Given the description of an element on the screen output the (x, y) to click on. 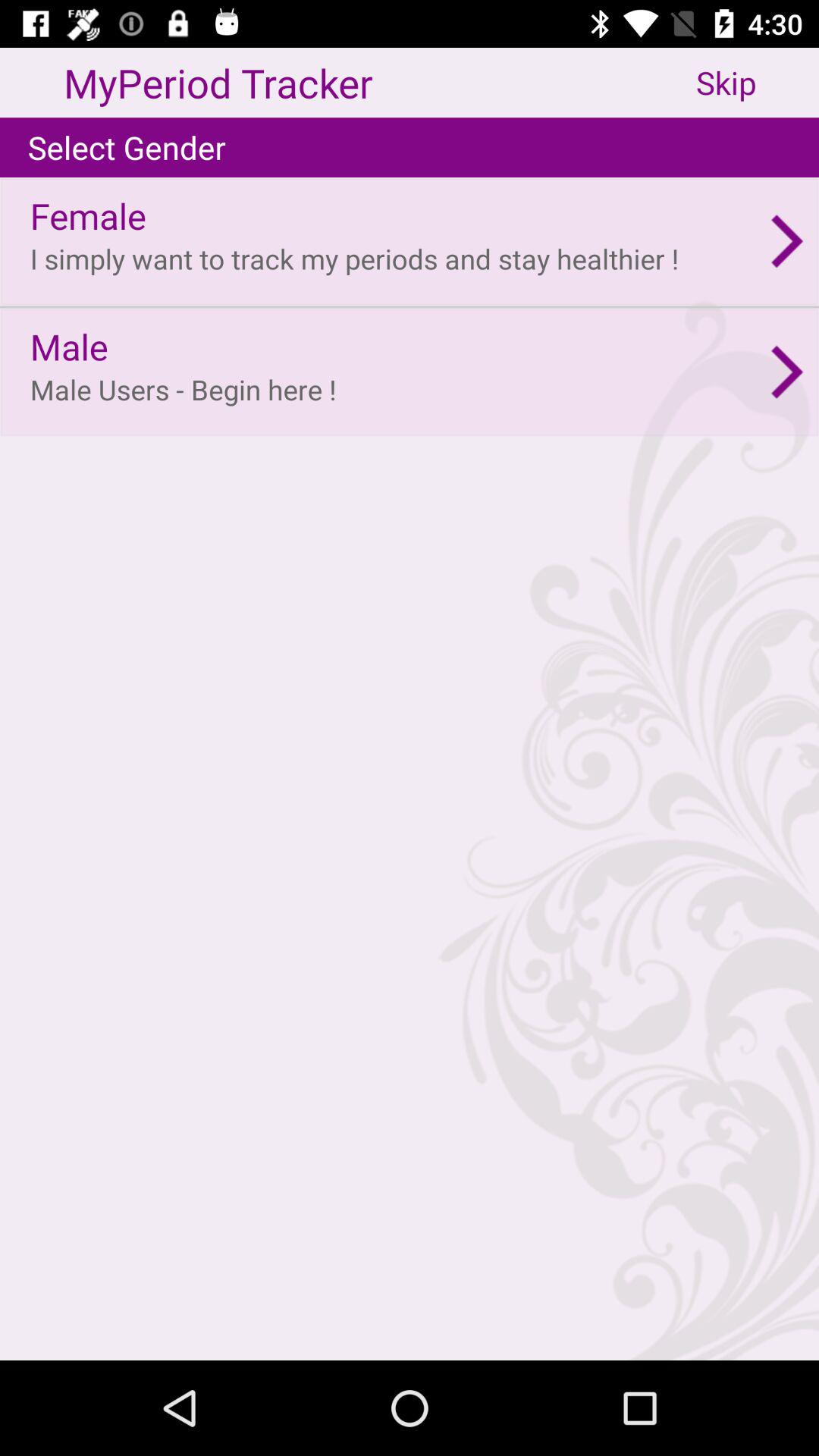
click the item to the right of the myperiod tracker (757, 82)
